Given the description of an element on the screen output the (x, y) to click on. 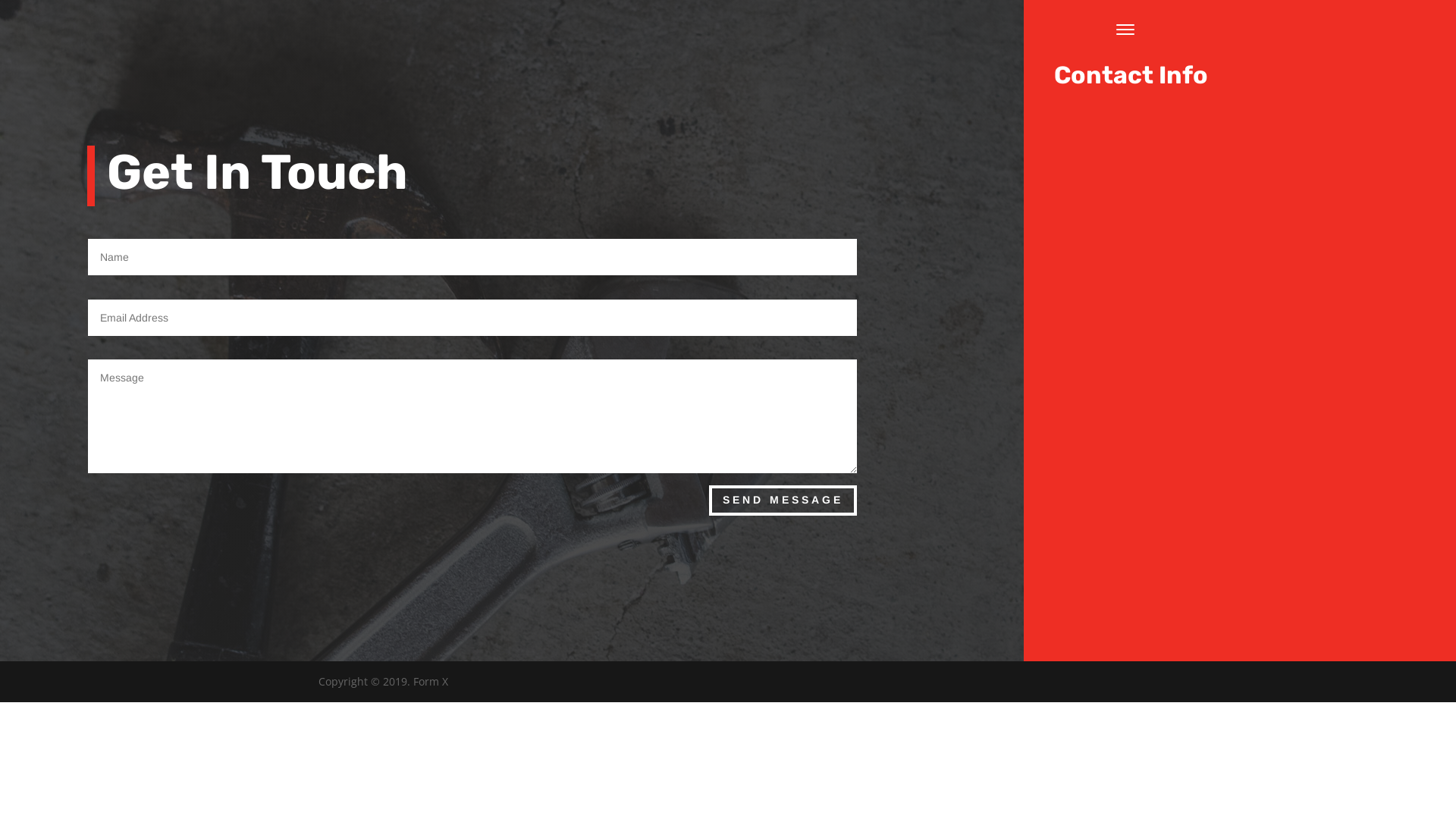
SEND MESSAGE Element type: text (782, 500)
